Given the description of an element on the screen output the (x, y) to click on. 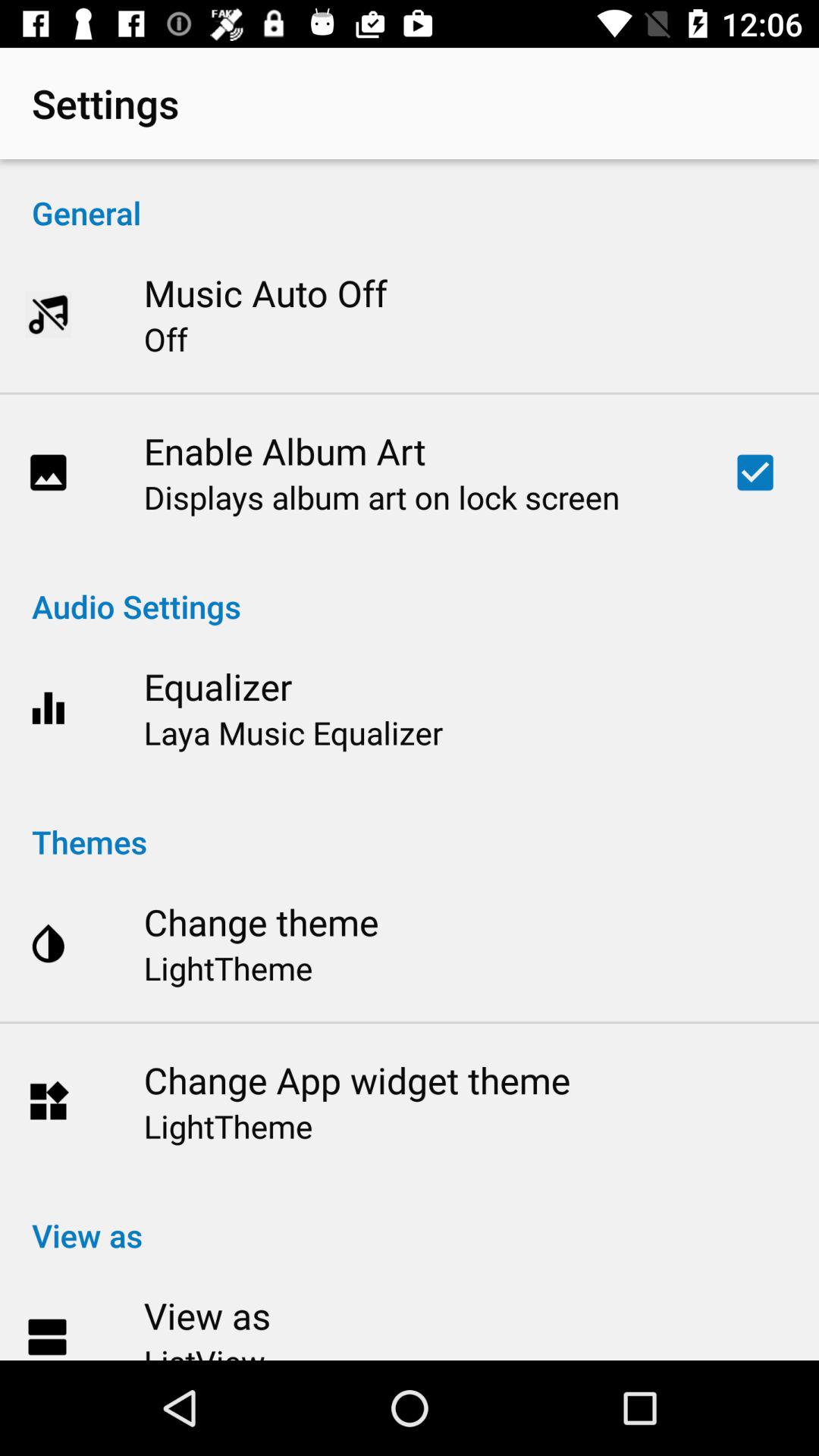
turn off the icon below settings item (409, 196)
